Given the description of an element on the screen output the (x, y) to click on. 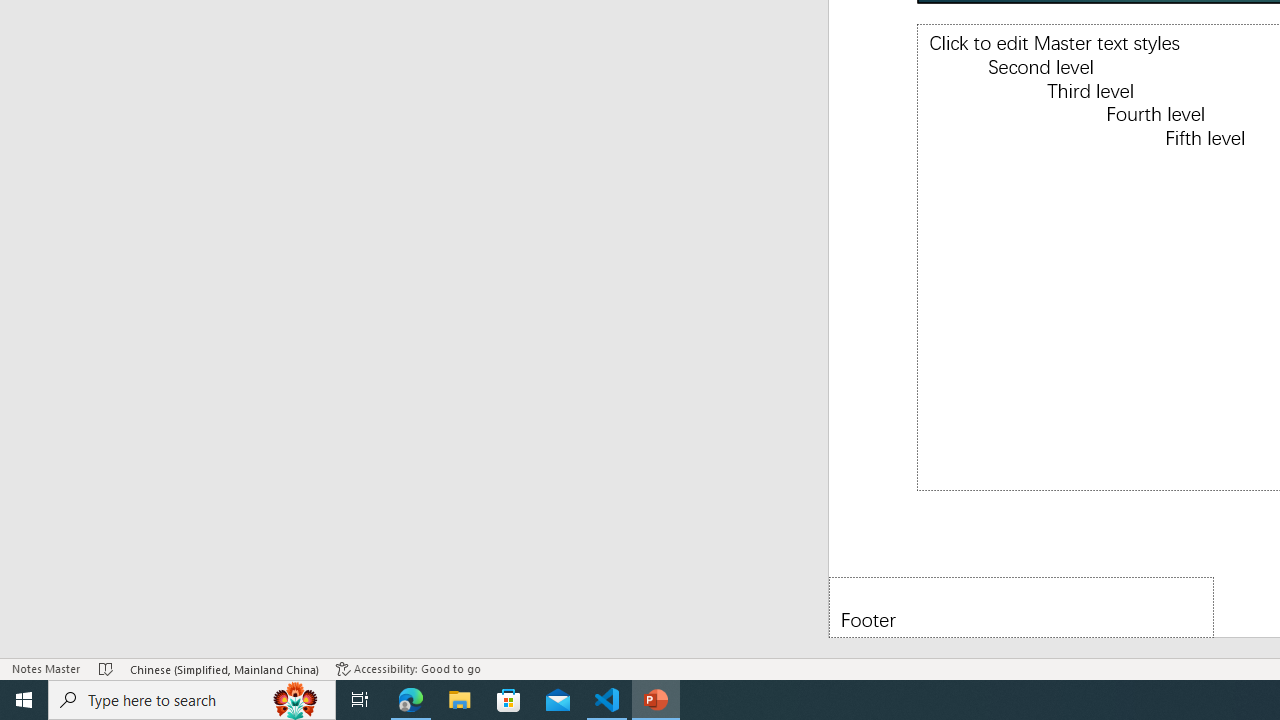
Accessibility Checker Accessibility: Good to go (407, 668)
Footer (1021, 606)
